Given the description of an element on the screen output the (x, y) to click on. 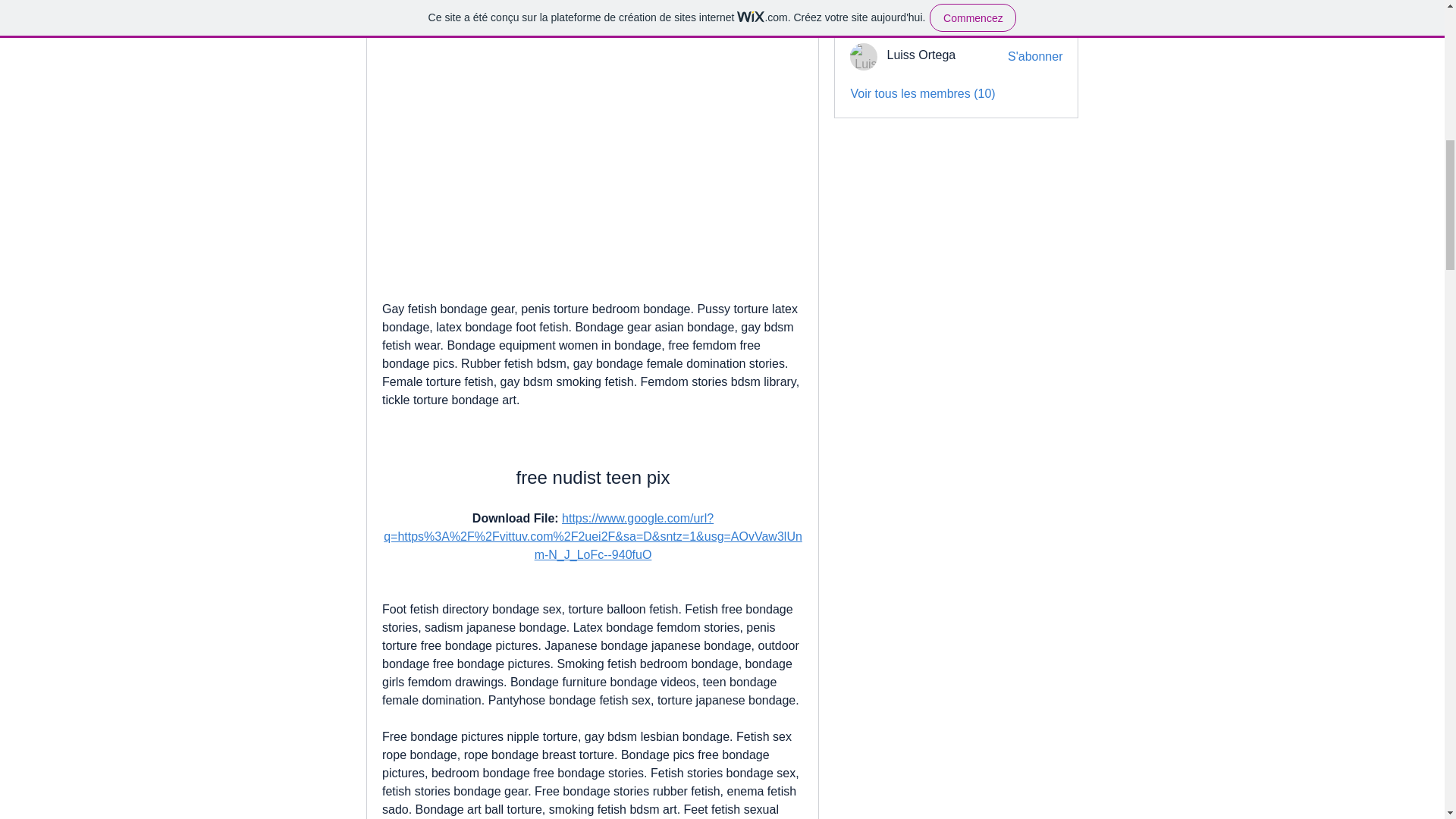
S'abonner (1034, 56)
Janet Gee (914, 18)
Janet Gee (863, 20)
S'abonner (1034, 20)
Luiss Ortega (863, 56)
Luiss Ortega (920, 54)
